Given the description of an element on the screen output the (x, y) to click on. 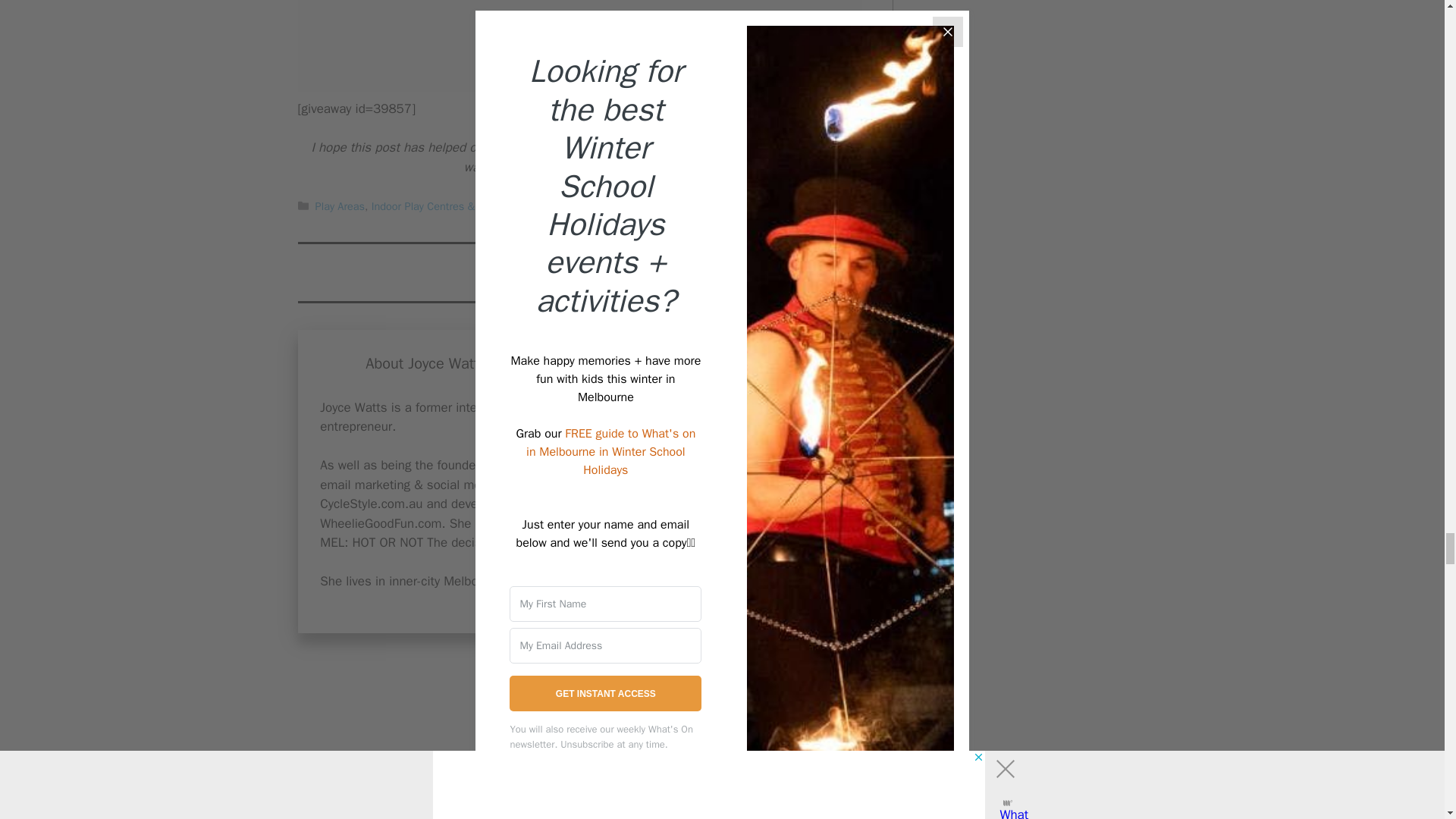
Subscribe to my weekly newsletter (655, 147)
Play Areas (340, 205)
Popular Post (632, 205)
Party venues (564, 205)
